Given the description of an element on the screen output the (x, y) to click on. 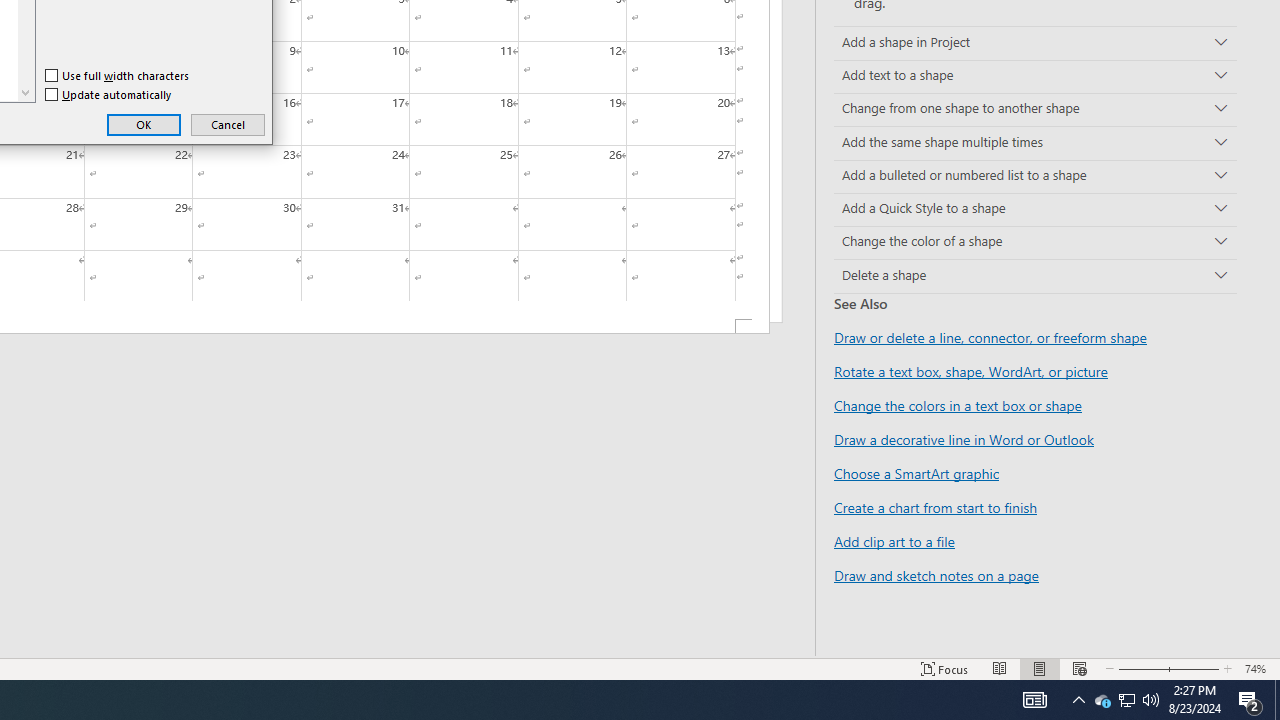
Show desktop (1277, 699)
Q2790: 100% (1151, 699)
Change from one shape to another shape (1035, 109)
Cancel (227, 124)
Rotate a text box, shape, WordArt, or picture (971, 371)
Update automatically (109, 94)
Create a chart from start to finish (935, 507)
Add a shape in Project (1035, 43)
Add text to a shape (1035, 76)
Add a Quick Style to a shape (1035, 209)
Add a bulleted or numbered list to a shape (1035, 176)
User Promoted Notification Area (1126, 699)
